Given the description of an element on the screen output the (x, y) to click on. 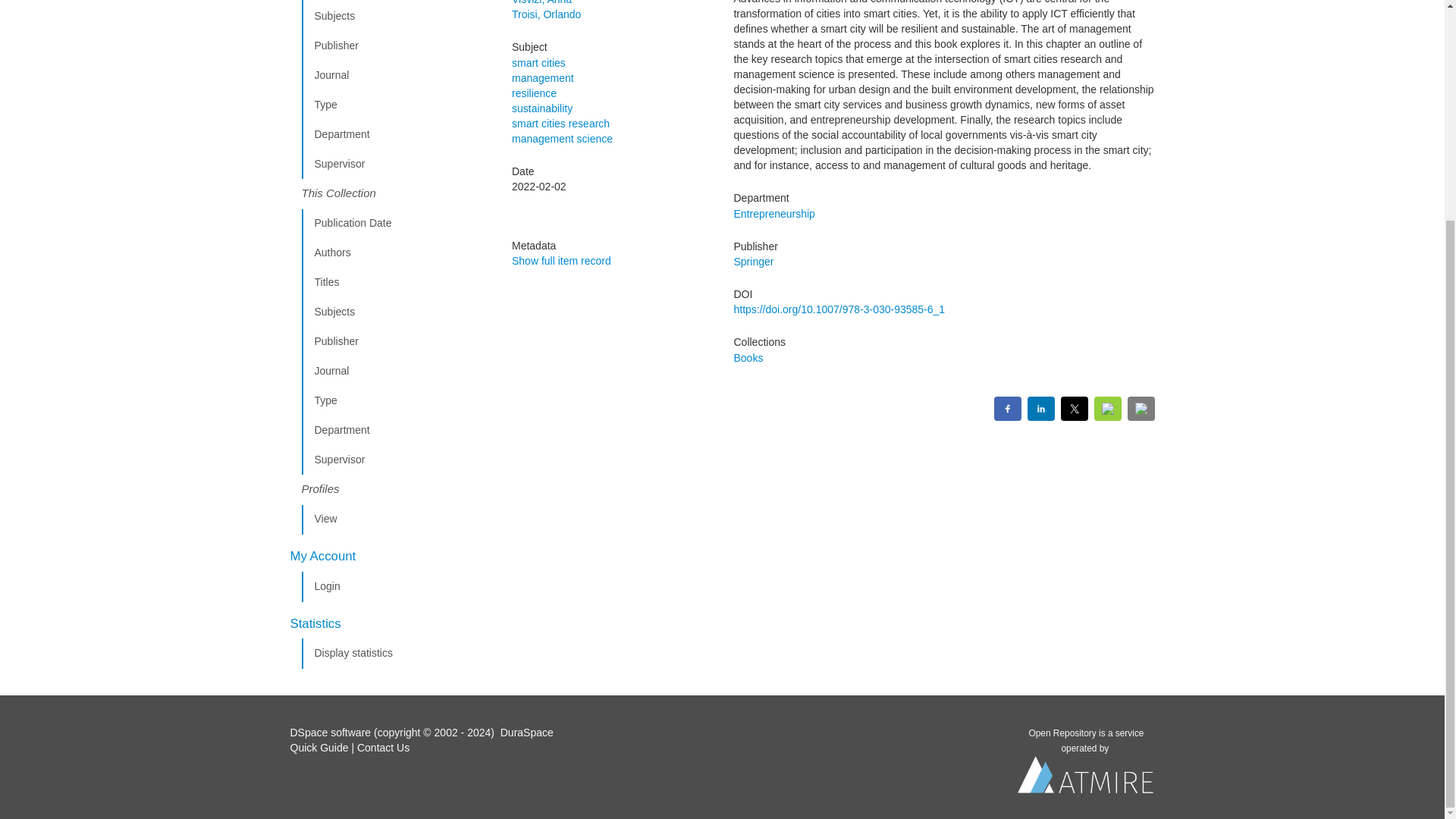
Titles (395, 1)
Supervisor (395, 164)
Atmire NV (1085, 778)
Publisher (395, 341)
Display statistics (395, 653)
Authors (395, 253)
Journal (395, 75)
Titles (395, 282)
Type (395, 400)
Profiles (395, 490)
